Given the description of an element on the screen output the (x, y) to click on. 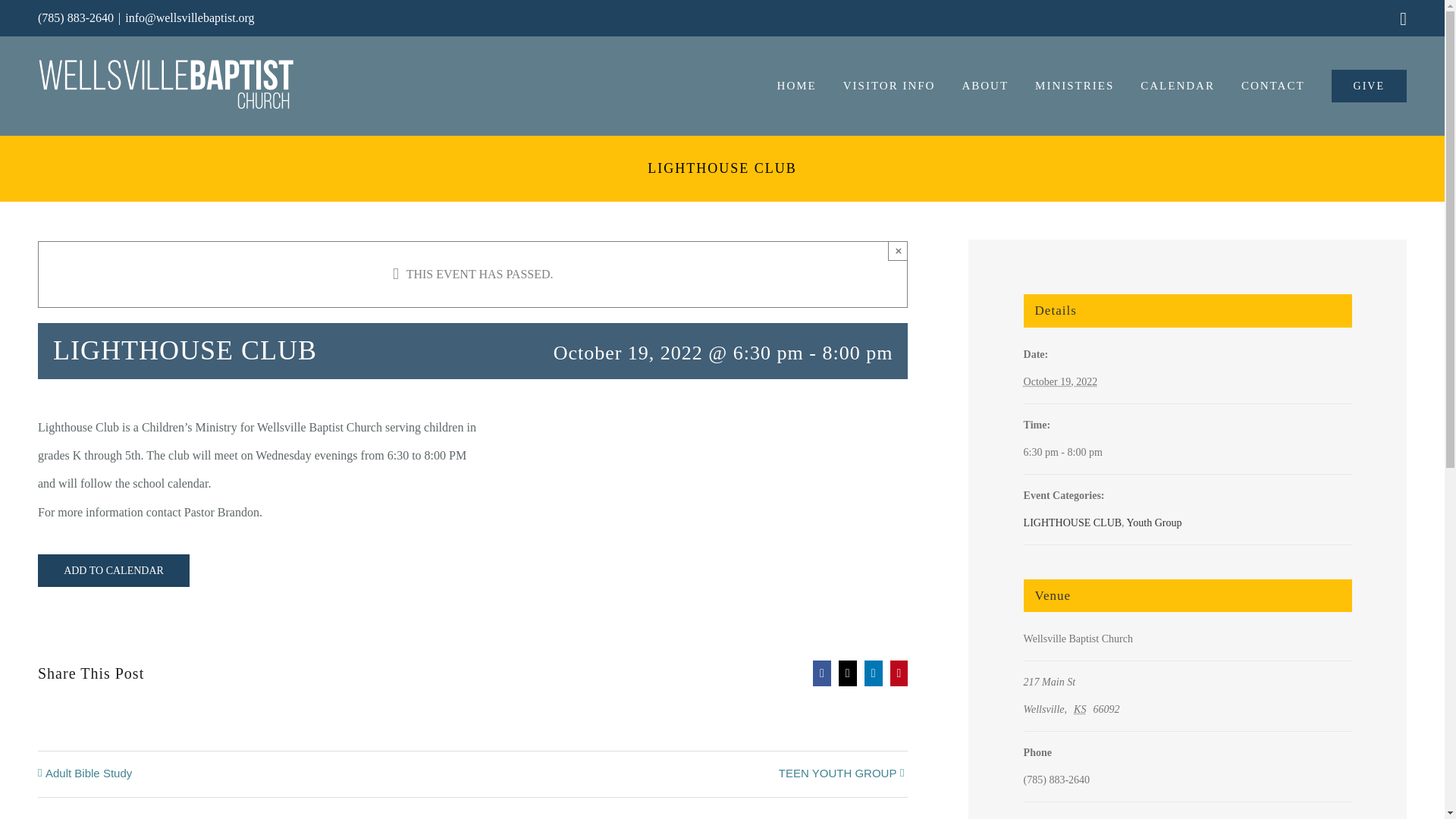
2022-10-19 (1187, 452)
ADD TO CALENDAR (113, 570)
Kansas (1082, 708)
VISITOR INFO (889, 85)
2022-10-19 (1060, 381)
